Given the description of an element on the screen output the (x, y) to click on. 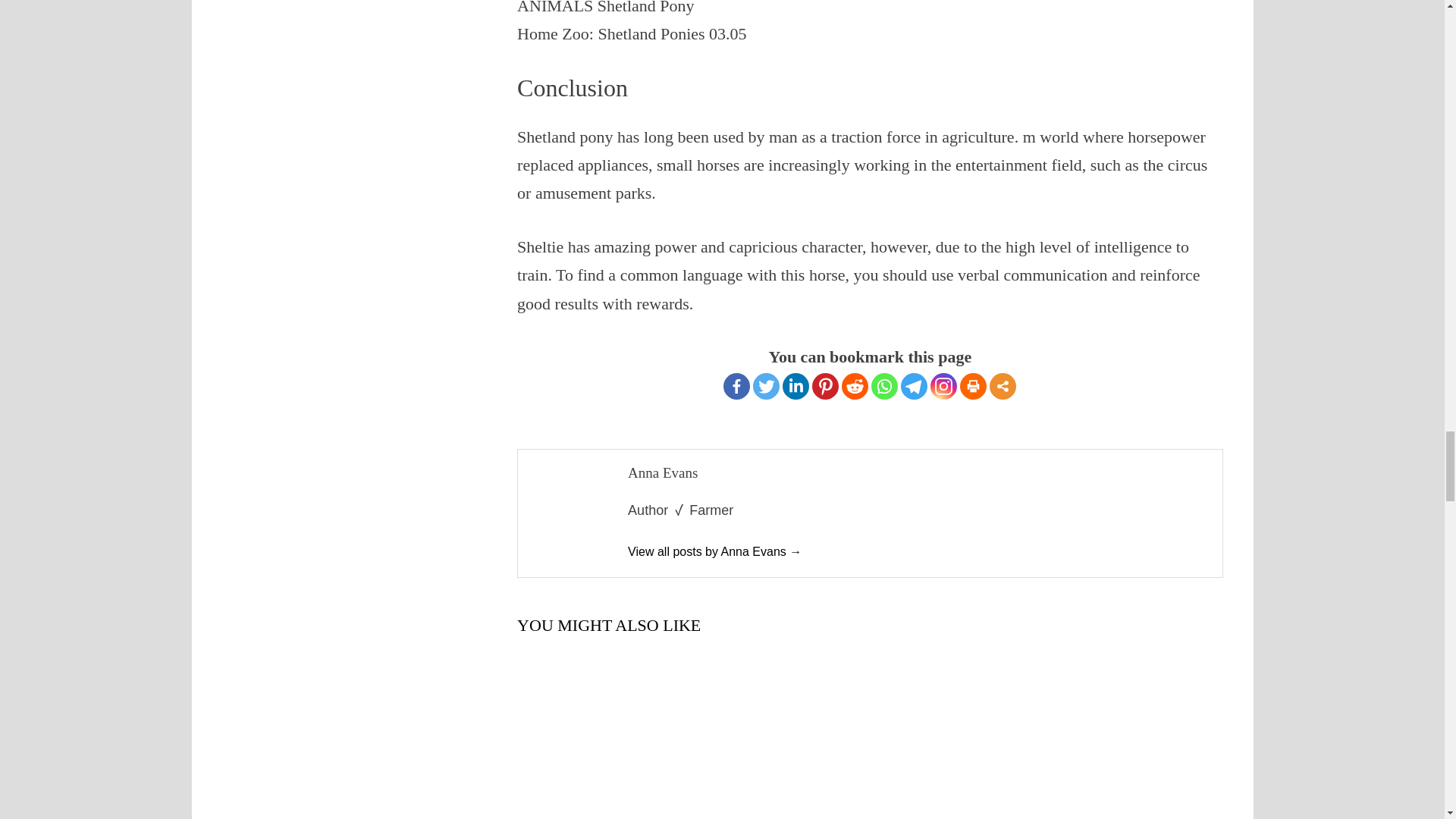
Linkedin (796, 386)
Reddit (854, 386)
Pinterest (825, 386)
Facebook (736, 386)
Suffolk Horse Characteristic (626, 740)
Twitter (765, 386)
Print (973, 386)
Whatsapp (884, 386)
Description of the Marwar Horse (869, 735)
Thoroughbred arabian horse (1103, 740)
Instagram (943, 386)
More (1003, 386)
Anna Evans (714, 551)
Telegram (914, 386)
